Given the description of an element on the screen output the (x, y) to click on. 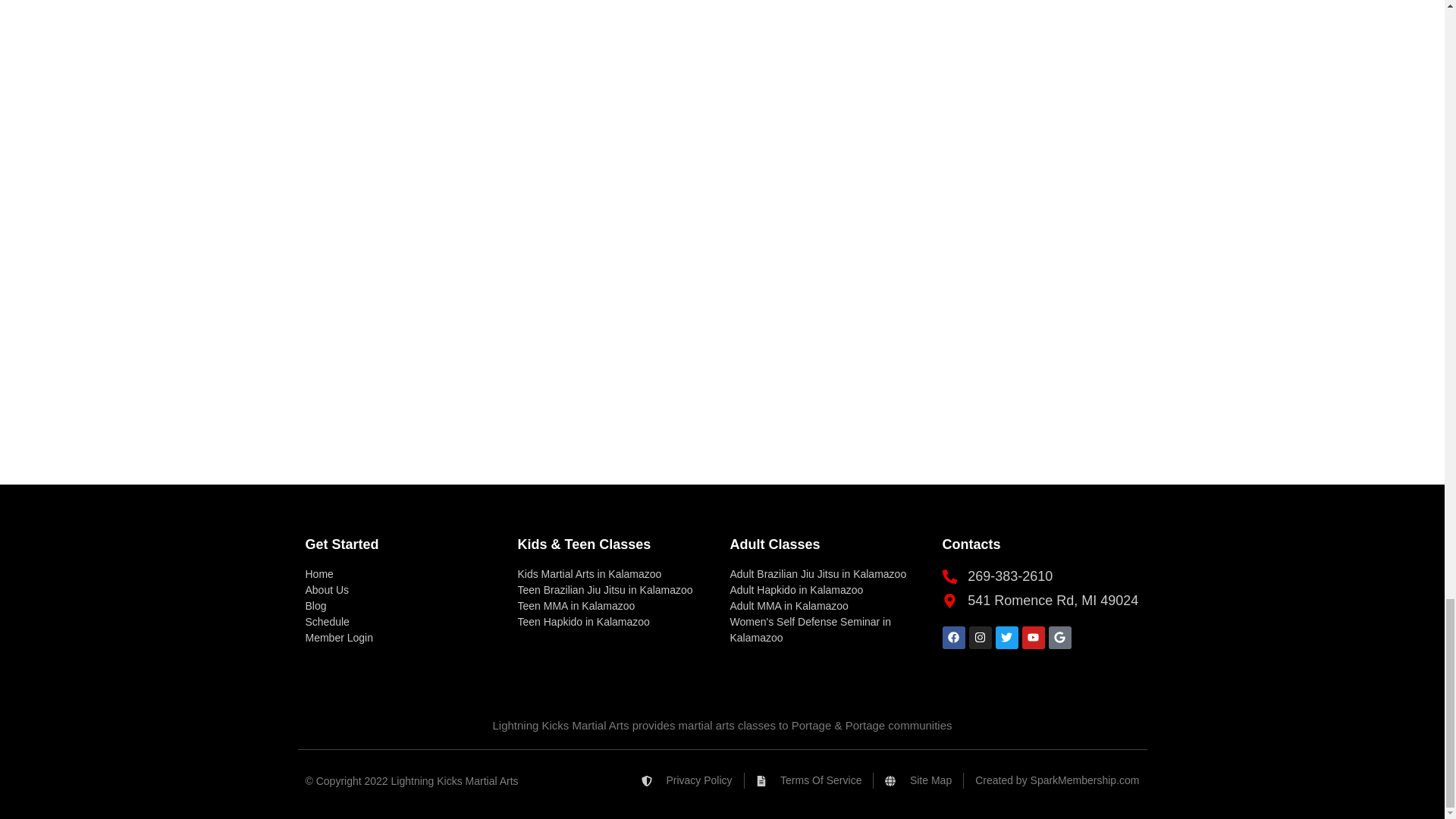
Blog (403, 606)
Home (403, 574)
Member Login (403, 637)
Schedule (403, 621)
About Us (403, 590)
